Given the description of an element on the screen output the (x, y) to click on. 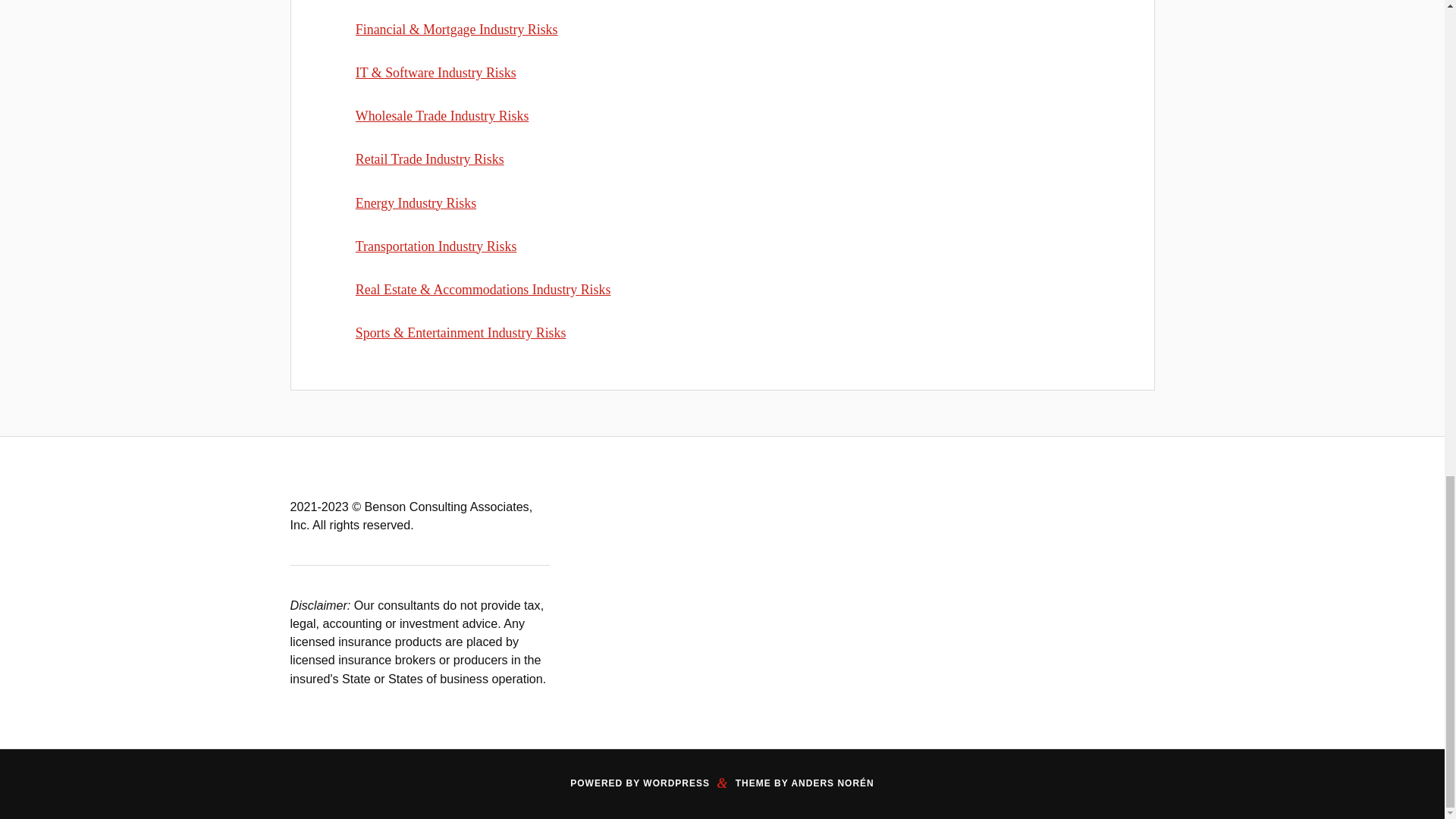
WORDPRESS (676, 783)
Retail Trade Industry Risks (429, 159)
Energy Industry Risks (415, 201)
Transportation Industry Risks (435, 246)
Wholesale Trade Industry Risks (441, 115)
